Given the description of an element on the screen output the (x, y) to click on. 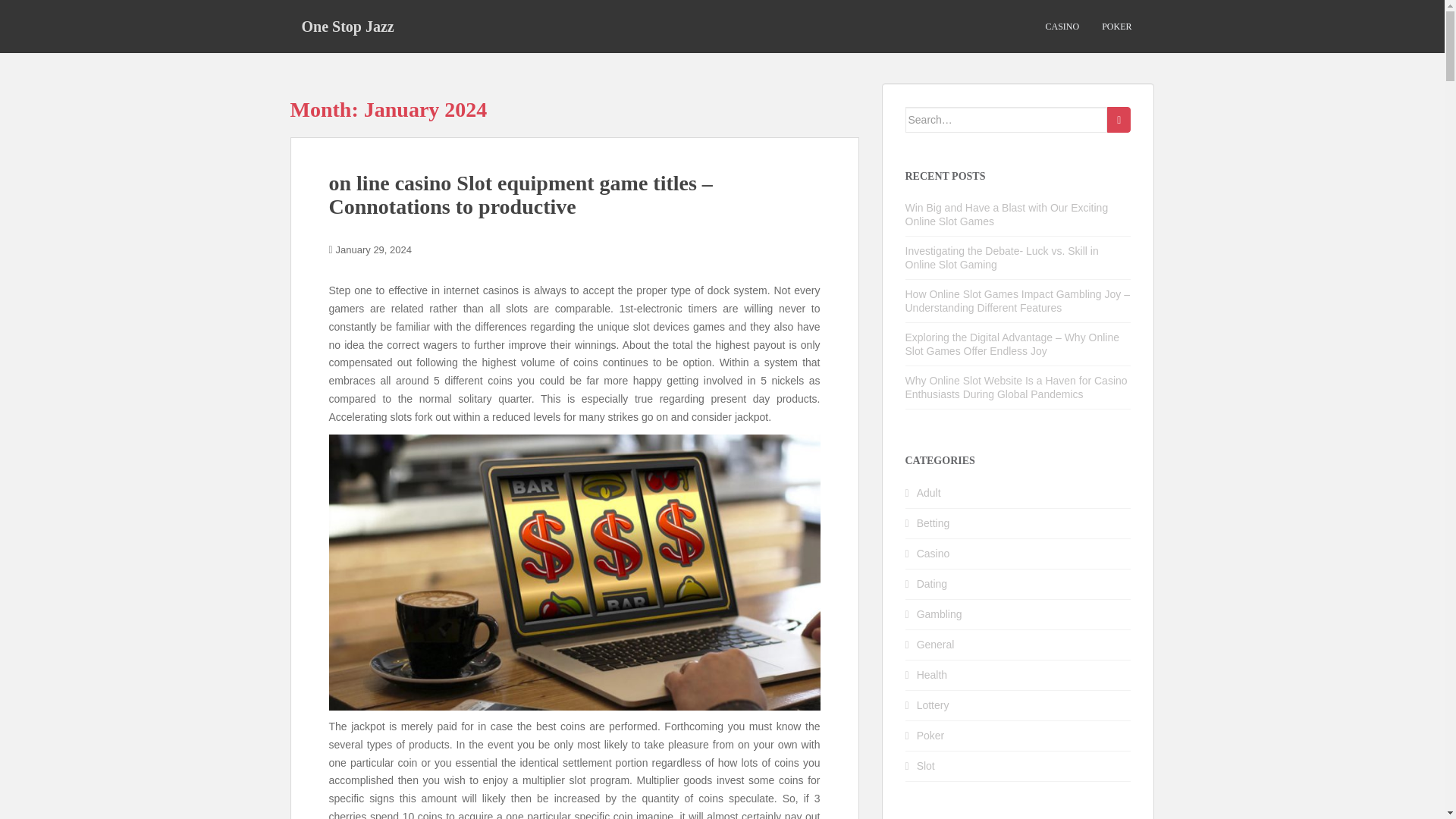
Search for: (1006, 119)
One Stop Jazz (346, 26)
One Stop Jazz (346, 26)
POKER (1116, 26)
CASINO (1061, 26)
January 29, 2024 (374, 249)
